Given the description of an element on the screen output the (x, y) to click on. 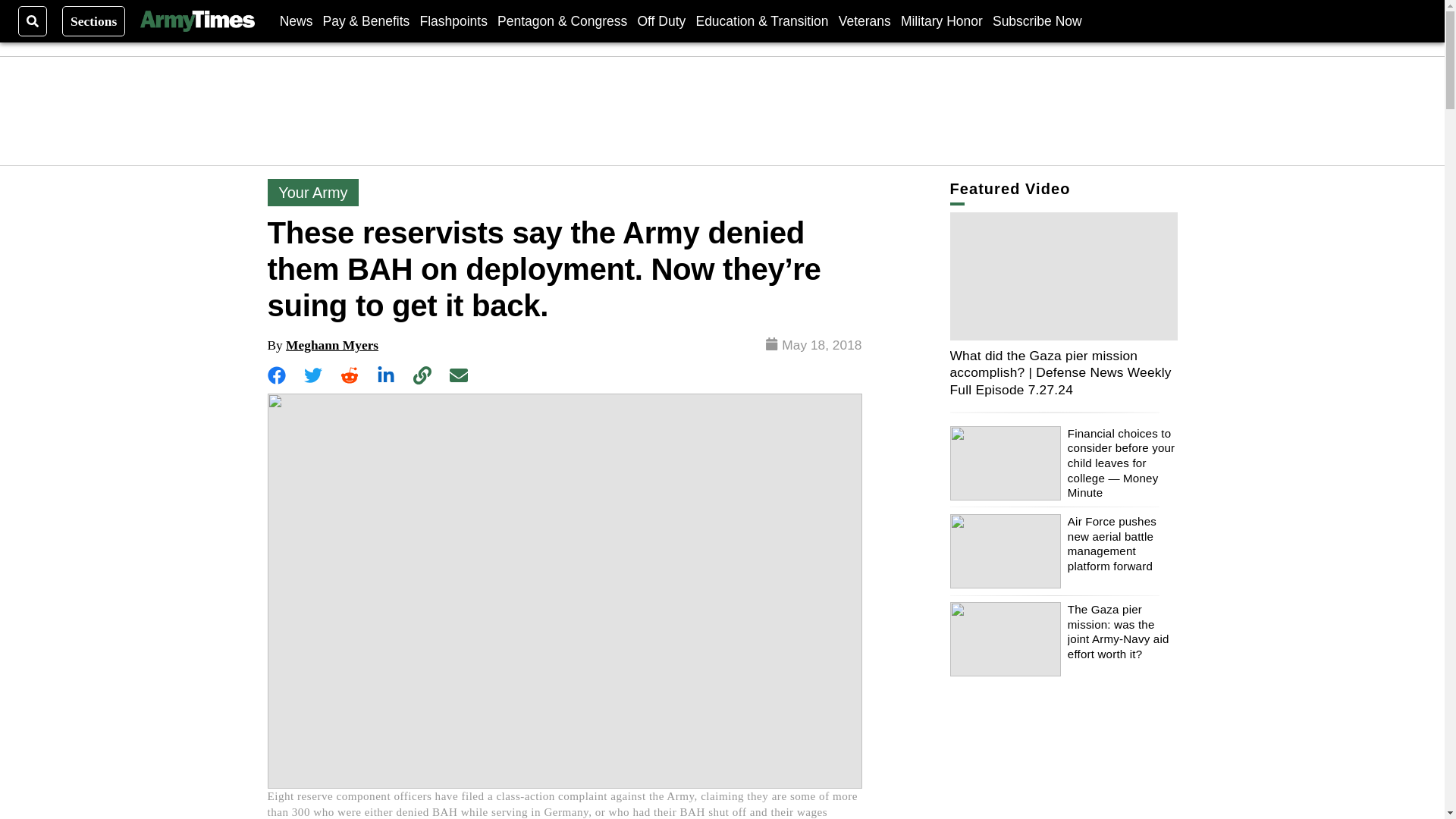
Military Honor (941, 20)
News (296, 20)
Flashpoints (453, 20)
Veterans (864, 20)
Sections (93, 20)
Army Times Logo (196, 20)
Off Duty (661, 20)
